Given the description of an element on the screen output the (x, y) to click on. 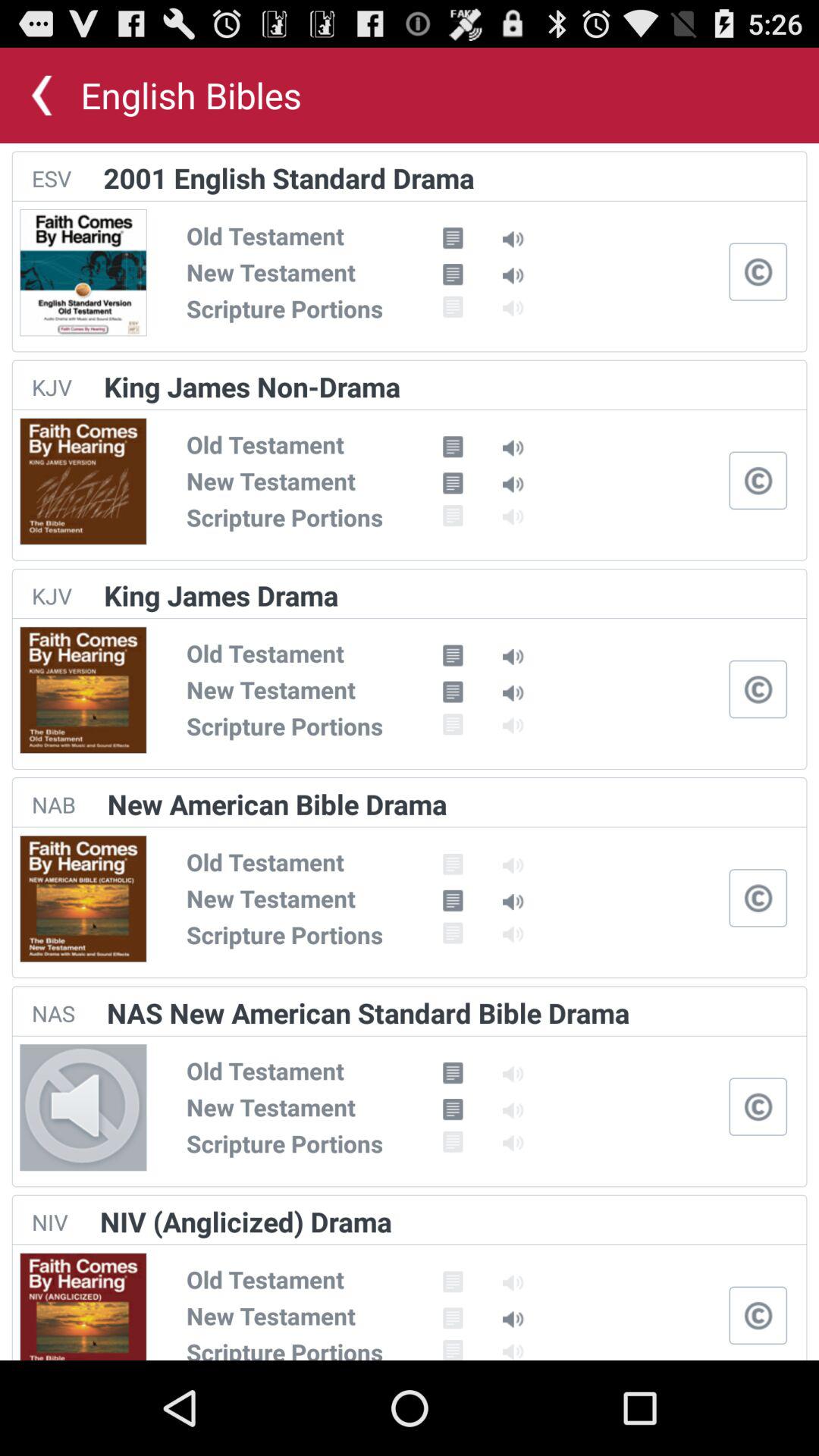
launch esv app (51, 178)
